Given the description of an element on the screen output the (x, y) to click on. 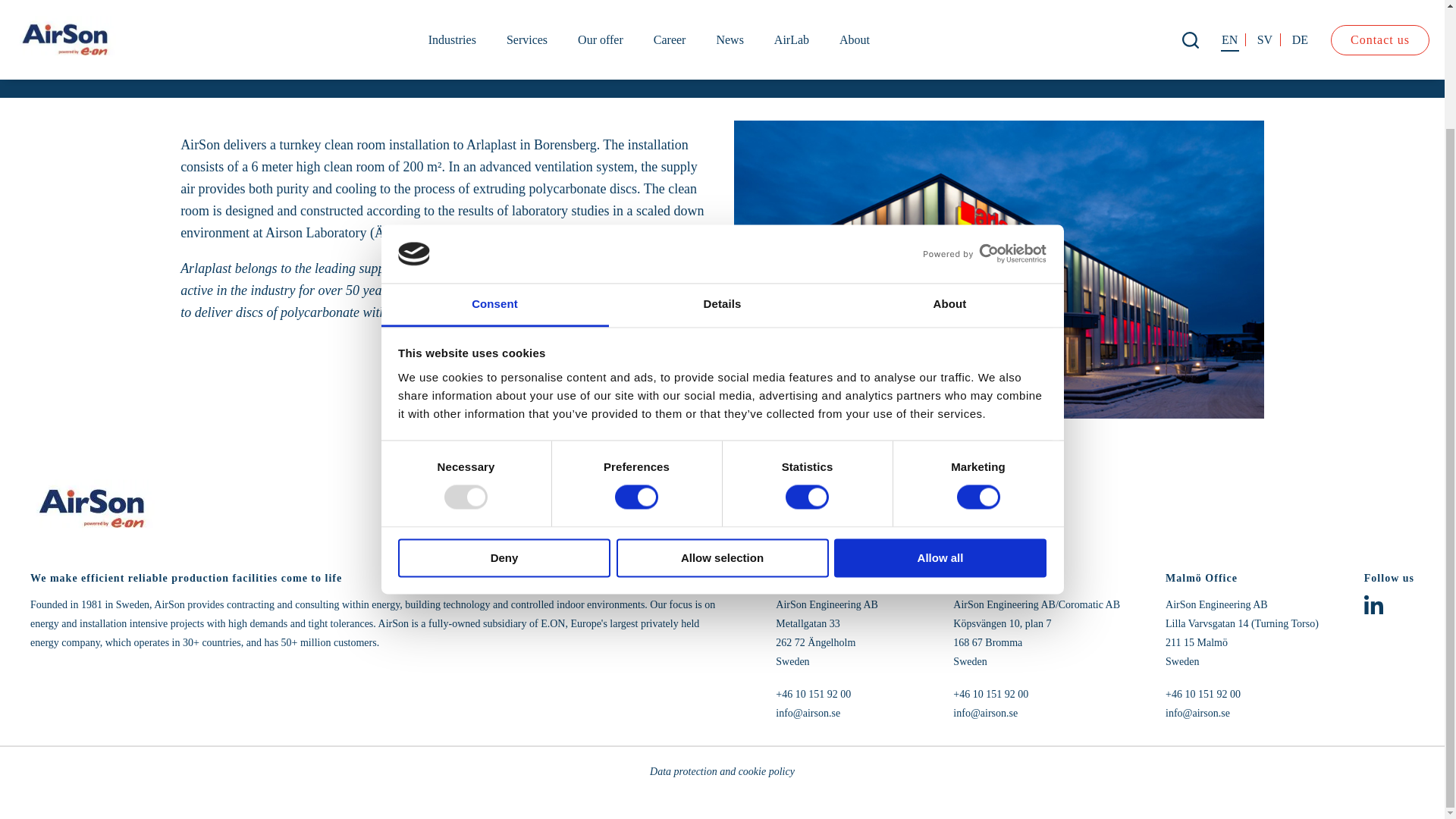
Deny (503, 415)
About (948, 163)
Consent (494, 163)
Allow all (940, 415)
Allow selection (721, 415)
Details (721, 163)
